Given the description of an element on the screen output the (x, y) to click on. 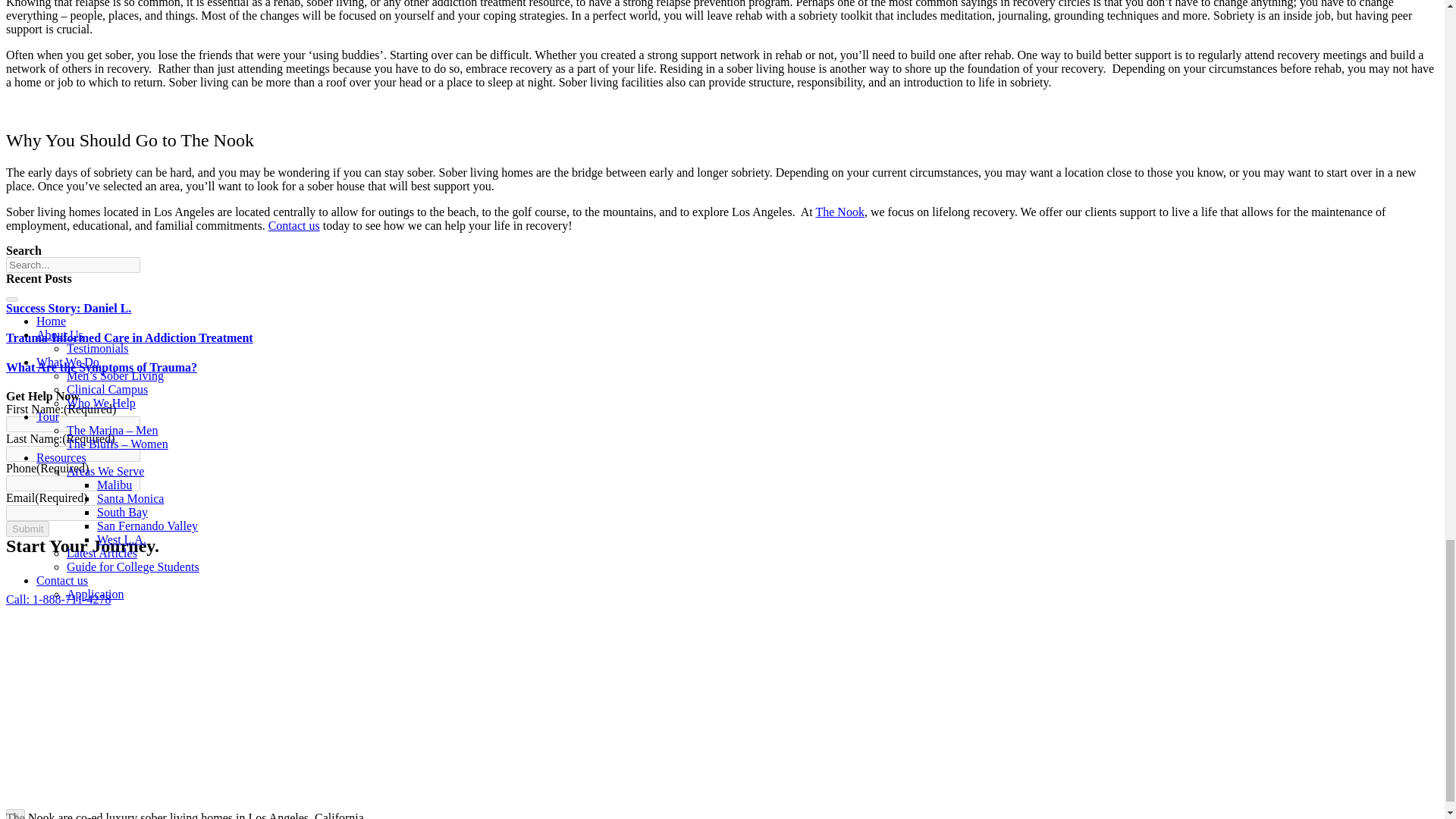
Search (72, 264)
Submit (27, 528)
